Given the description of an element on the screen output the (x, y) to click on. 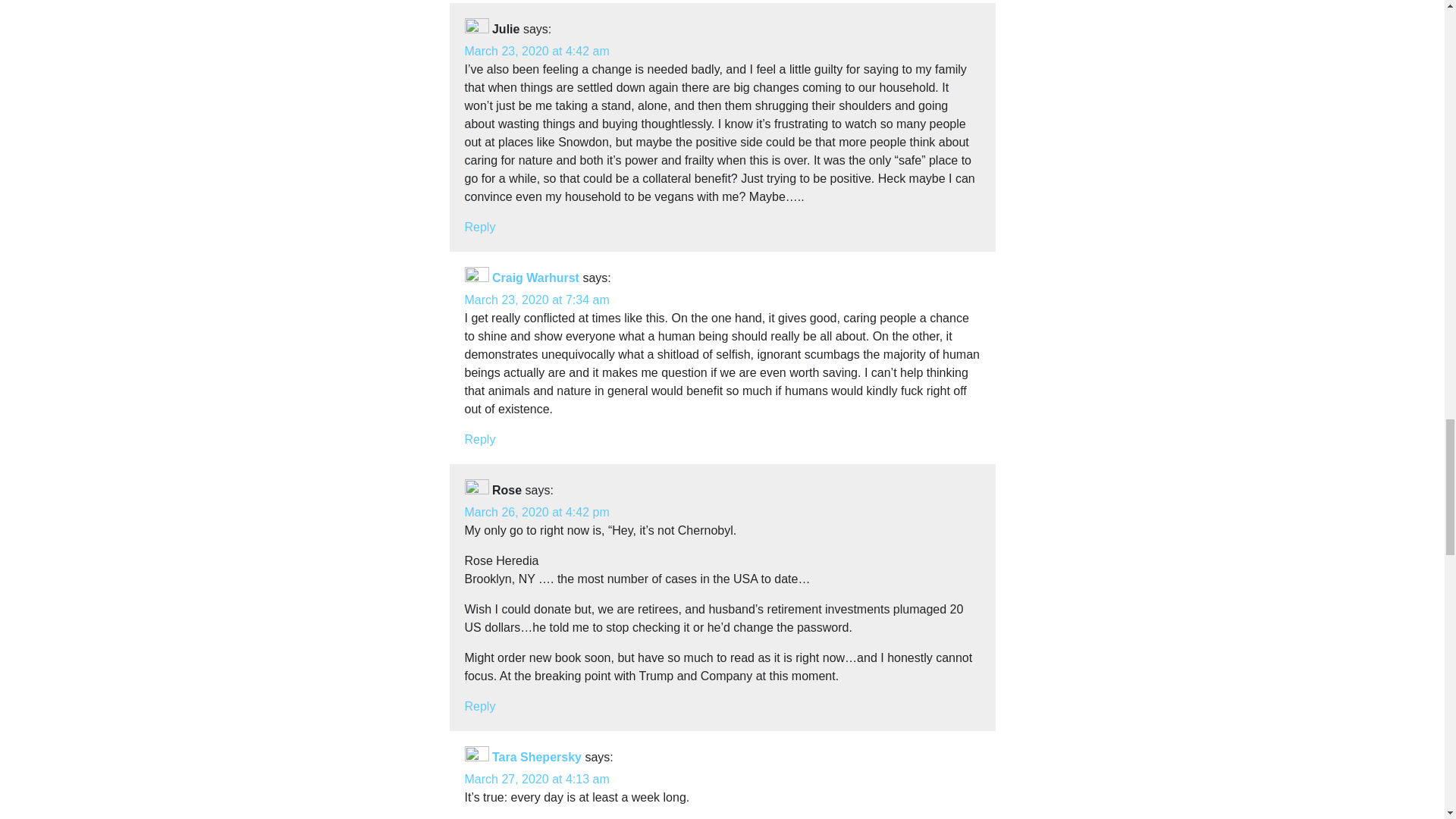
March 23, 2020 at 7:34 am (536, 299)
Craig Warhurst (535, 277)
Reply (479, 439)
Tara Shepersky (536, 757)
Reply (479, 706)
March 26, 2020 at 4:42 pm (536, 512)
March 27, 2020 at 4:13 am (536, 779)
March 23, 2020 at 4:42 am (536, 51)
Reply (479, 226)
